Given the description of an element on the screen output the (x, y) to click on. 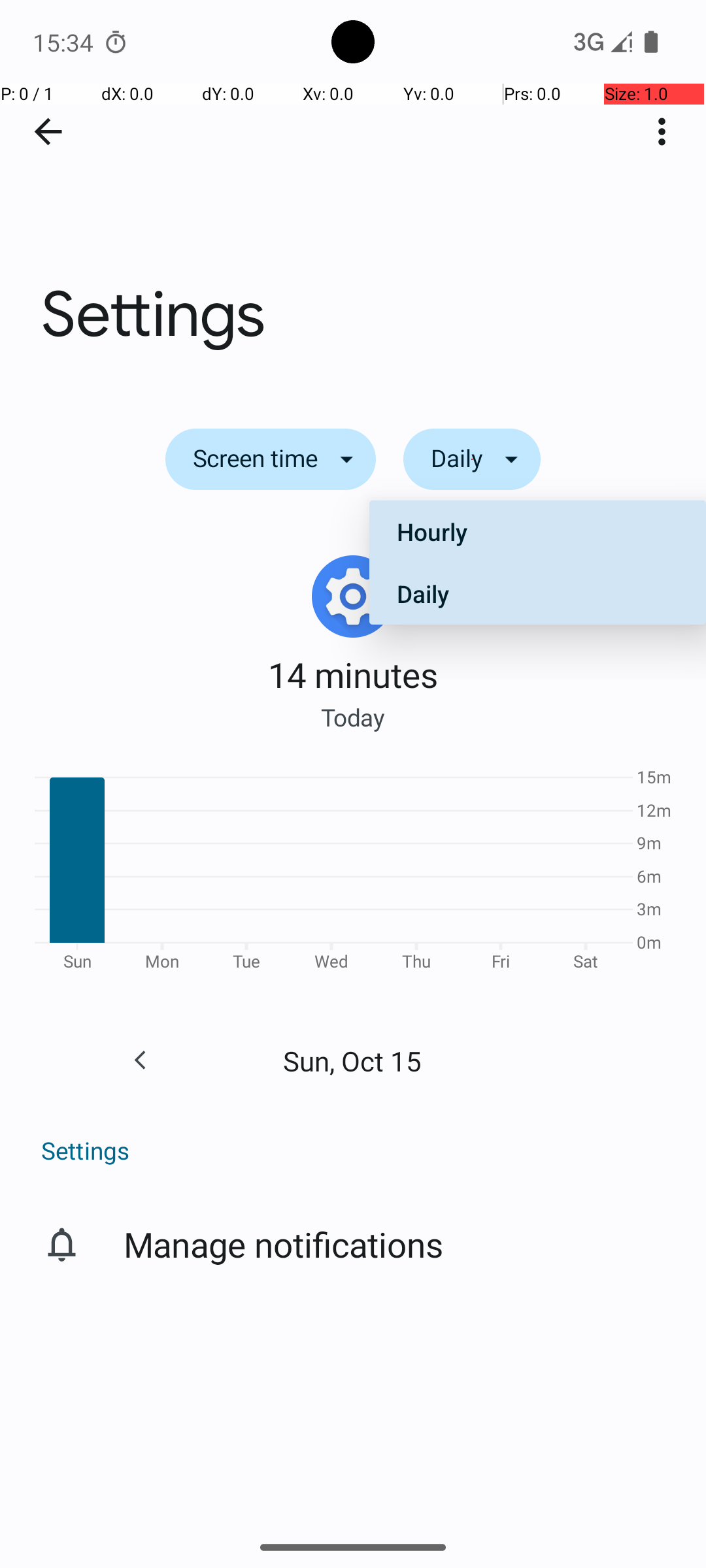
Hourly Element type: android.widget.TextView (537, 531)
